Given the description of an element on the screen output the (x, y) to click on. 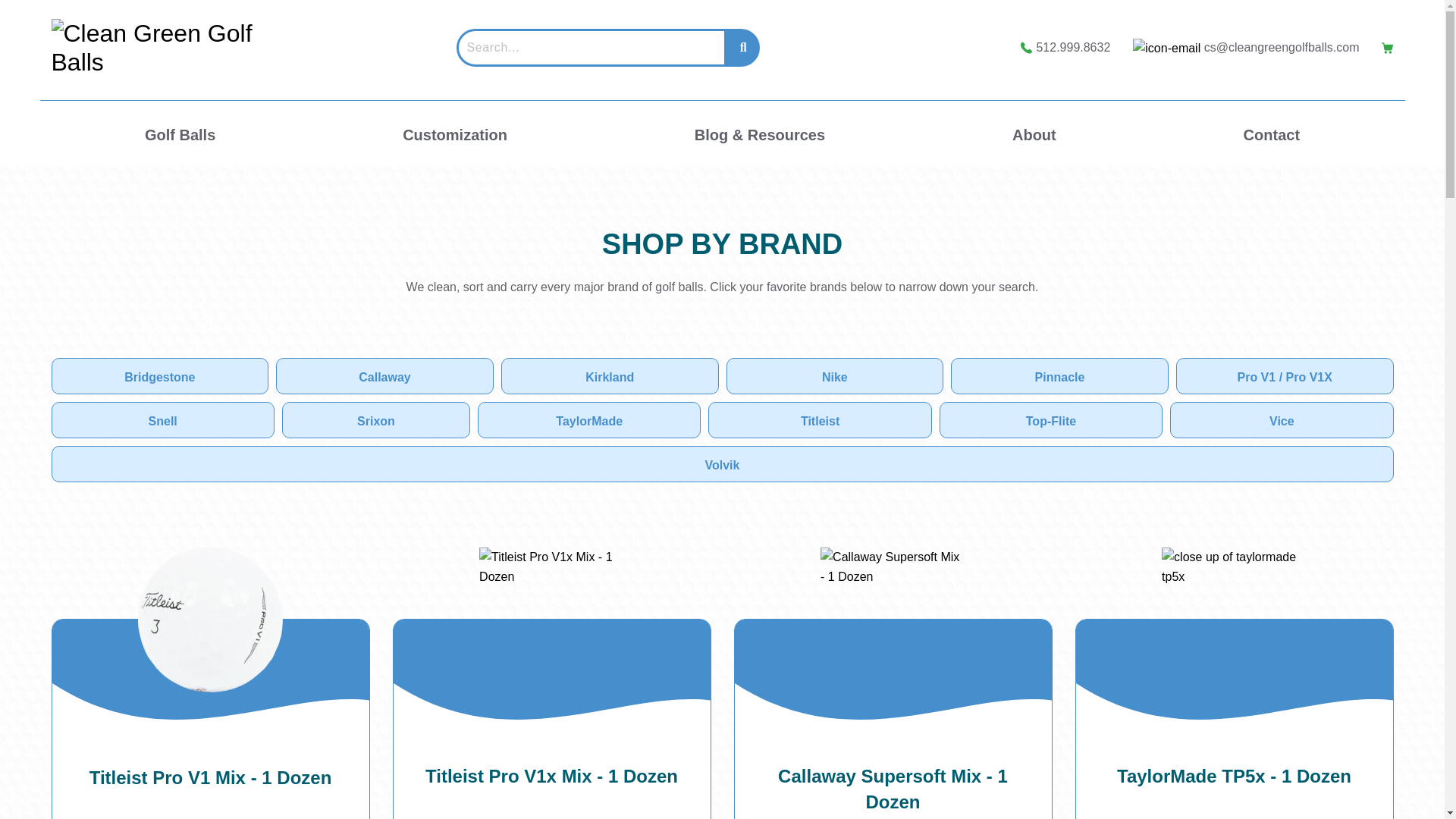
Customization (454, 134)
512.999.8632 (1072, 47)
Golf Balls (179, 134)
Contact (1271, 134)
About (1034, 134)
